Given the description of an element on the screen output the (x, y) to click on. 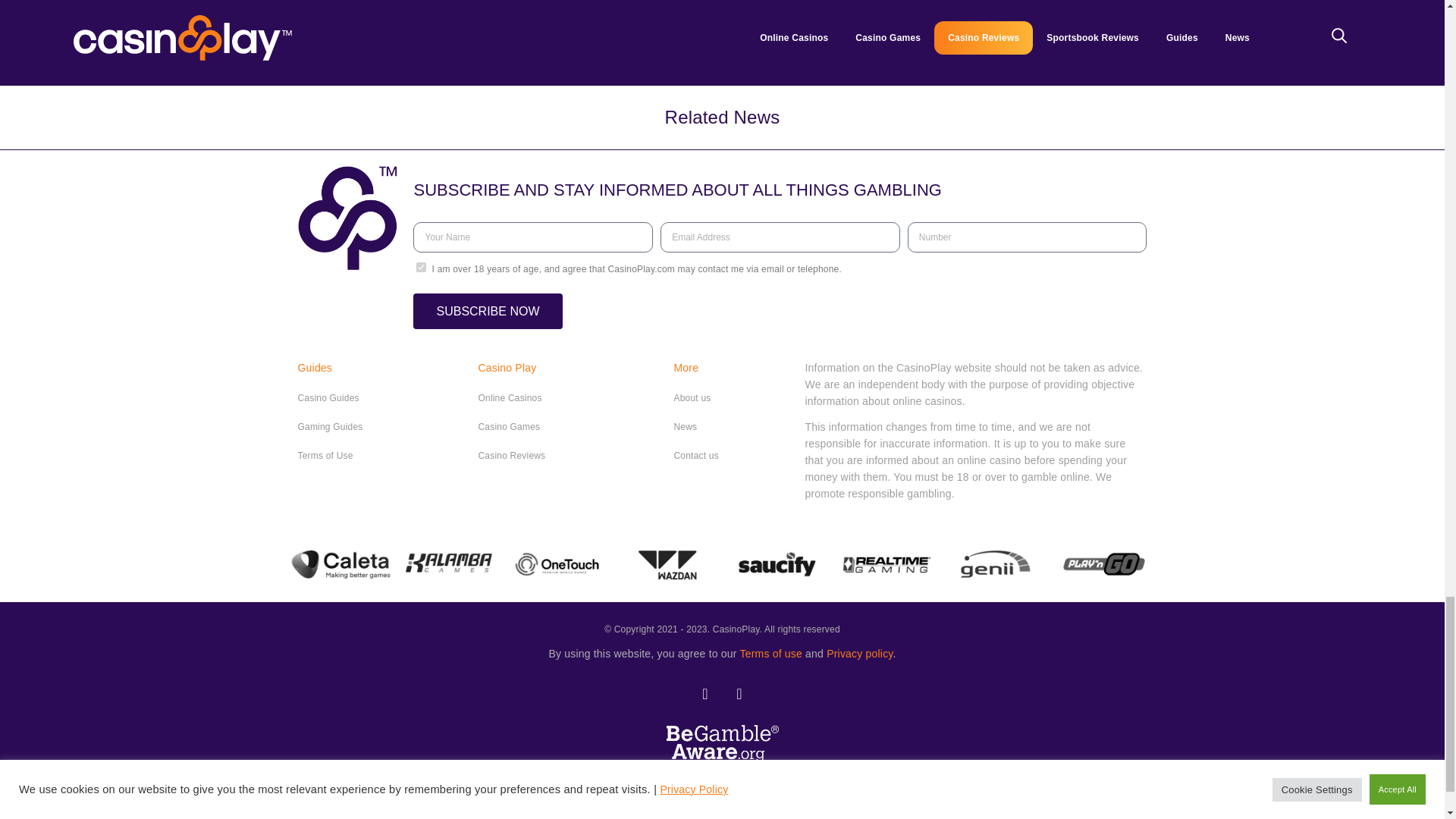
on (421, 266)
CasinoPlay Icon (347, 218)
